Given the description of an element on the screen output the (x, y) to click on. 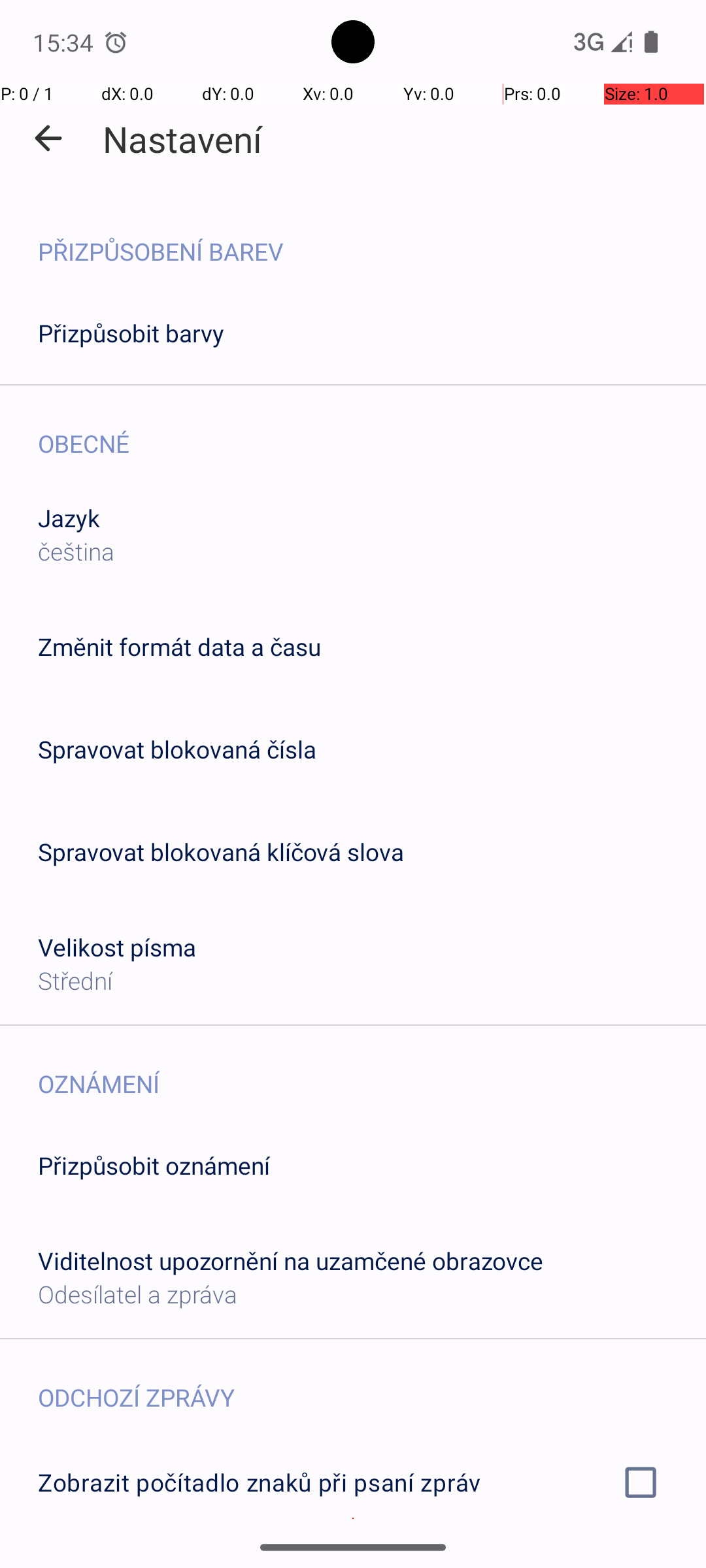
PŘIZPŮSOBENÍ BAREV Element type: android.widget.TextView (371, 237)
OBECNÉ Element type: android.widget.TextView (371, 429)
OZNÁMENÍ Element type: android.widget.TextView (371, 1069)
ODCHOZÍ ZPRÁVY Element type: android.widget.TextView (371, 1383)
Přizpůsobit barvy Element type: android.widget.TextView (130, 332)
Jazyk Element type: android.widget.TextView (68, 517)
čeština Element type: android.widget.TextView (75, 550)
Změnit formát data a času Element type: android.widget.TextView (178, 646)
Spravovat blokovaná čísla Element type: android.widget.TextView (176, 748)
Spravovat blokovaná klíčová slova Element type: android.widget.TextView (220, 851)
Velikost písma Element type: android.widget.TextView (116, 946)
Střední Element type: android.widget.TextView (74, 979)
Přizpůsobit oznámení Element type: android.widget.TextView (153, 1164)
Viditelnost upozornění na uzamčené obrazovce Element type: android.widget.TextView (290, 1260)
Odesílatel a zpráva Element type: android.widget.TextView (137, 1293)
Zobrazit počítadlo znaků při psaní zpráv Element type: android.widget.CheckBox (352, 1482)
Odstranit diakritiku při odesílání zprávy Element type: android.widget.CheckBox (352, 1559)
